Given the description of an element on the screen output the (x, y) to click on. 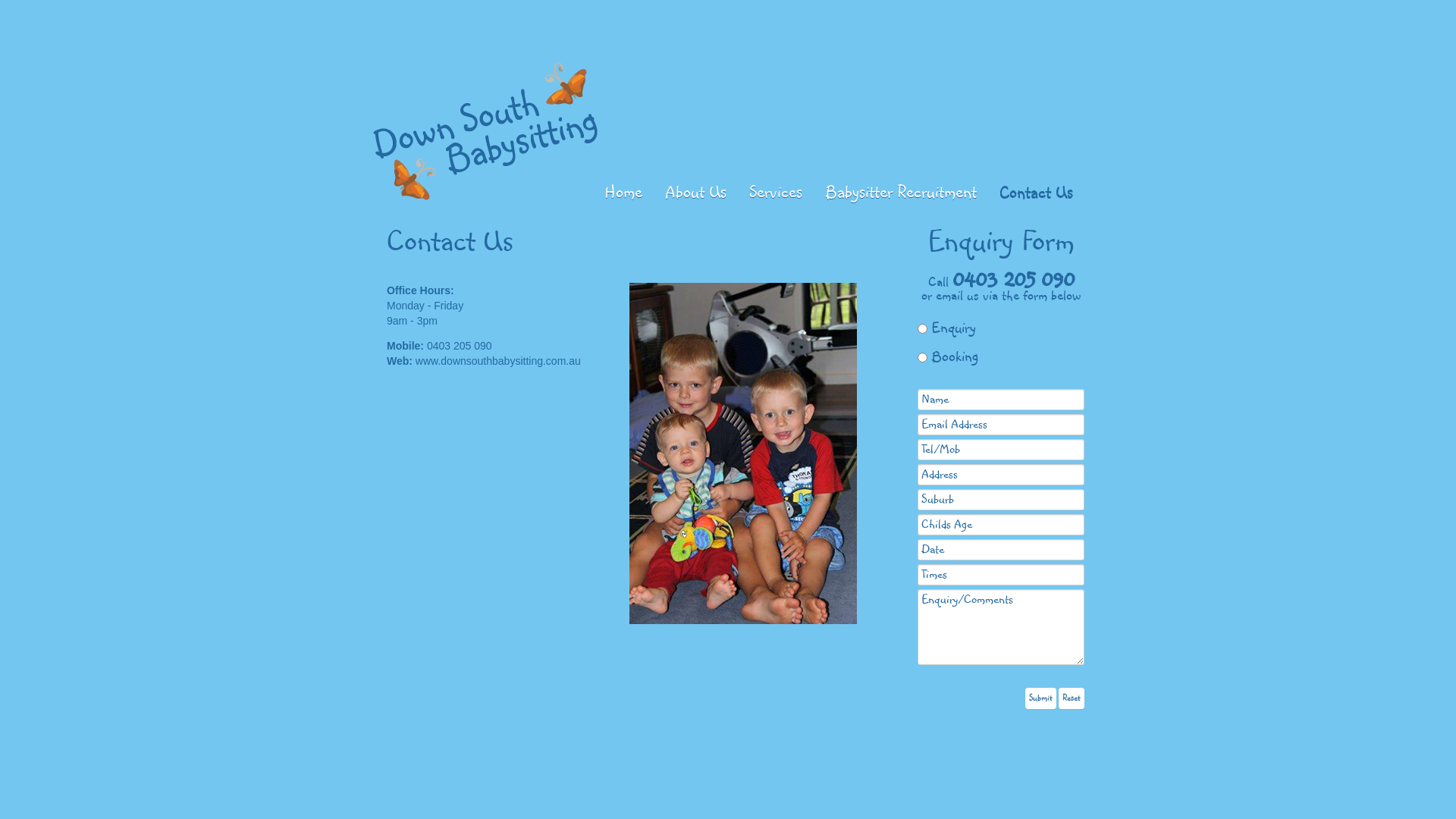
Services Element type: text (775, 192)
Down South Babysitting Element type: hover (485, 130)
Submit Element type: text (1040, 697)
Contact Us Element type: text (1036, 192)
Babysitter Recruitment Element type: text (900, 192)
About Us Element type: text (695, 192)
Reset Element type: text (1071, 697)
Home Element type: text (623, 192)
www.downsouthbabysitting.com.au Element type: text (497, 360)
